Given the description of an element on the screen output the (x, y) to click on. 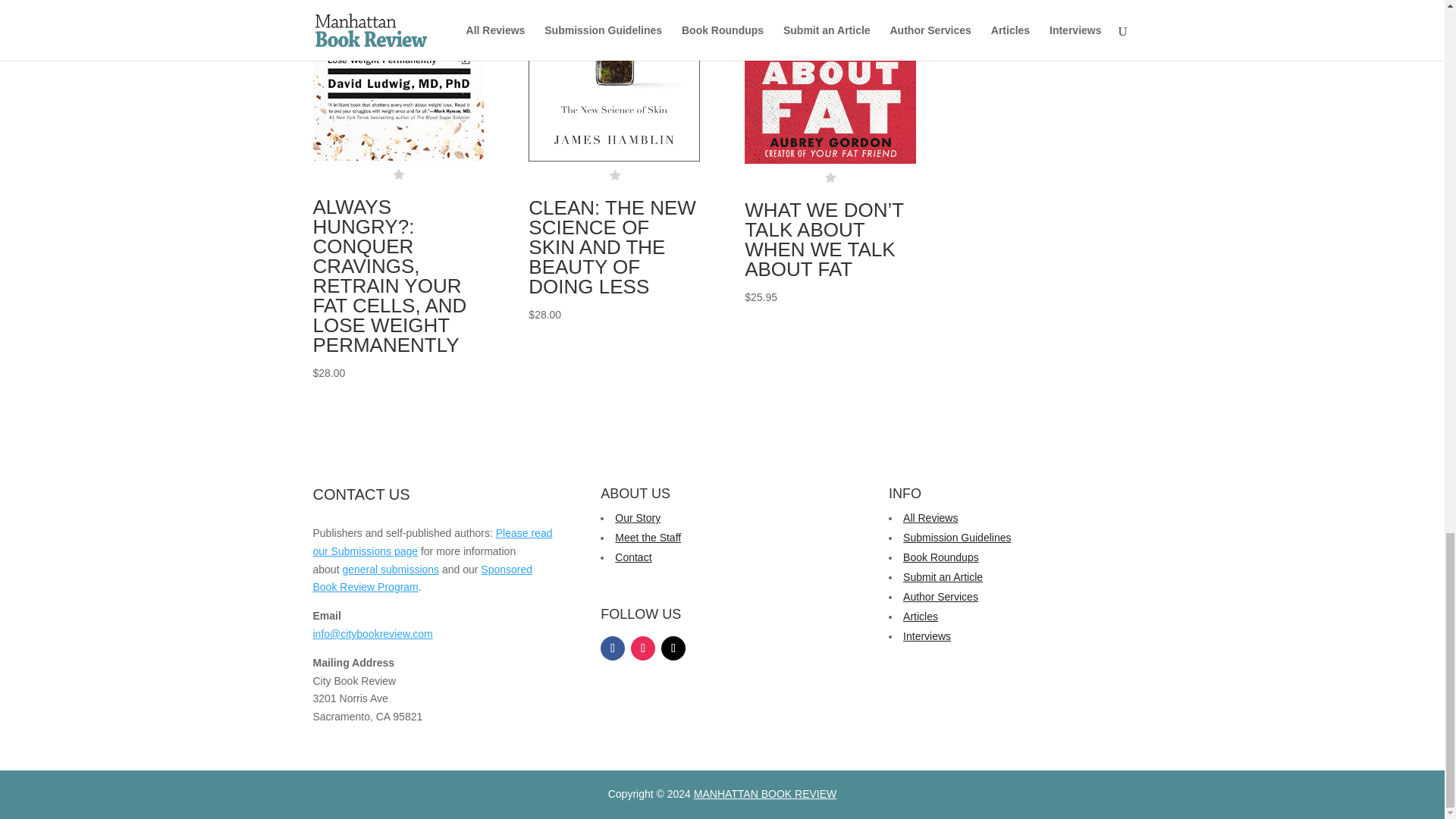
Our Story (637, 517)
Sponsored Book Review Program (422, 578)
Please read our Submissions page (432, 542)
Meet the Staff (647, 537)
general submissions (390, 569)
